Given the description of an element on the screen output the (x, y) to click on. 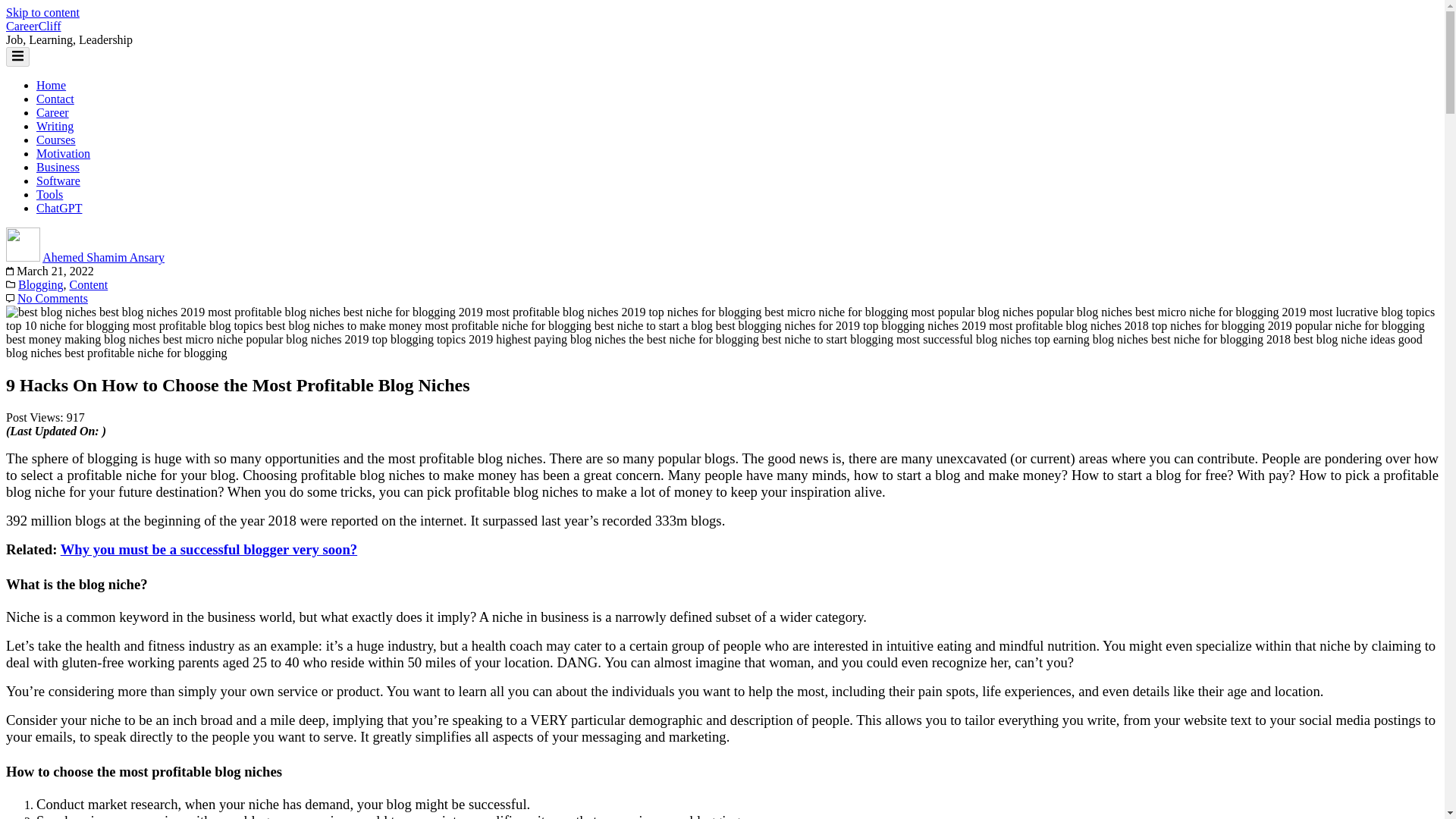
ChatGPT (58, 207)
Contact (55, 98)
Posts by Ahemed Shamim Ansary (103, 256)
Blogging (40, 284)
Courses (55, 139)
CareerCliff (33, 25)
Writing (55, 125)
Ahemed Shamim Ansary (103, 256)
Why you must be a successful blogger very soon? (208, 549)
Career (52, 112)
